Given the description of an element on the screen output the (x, y) to click on. 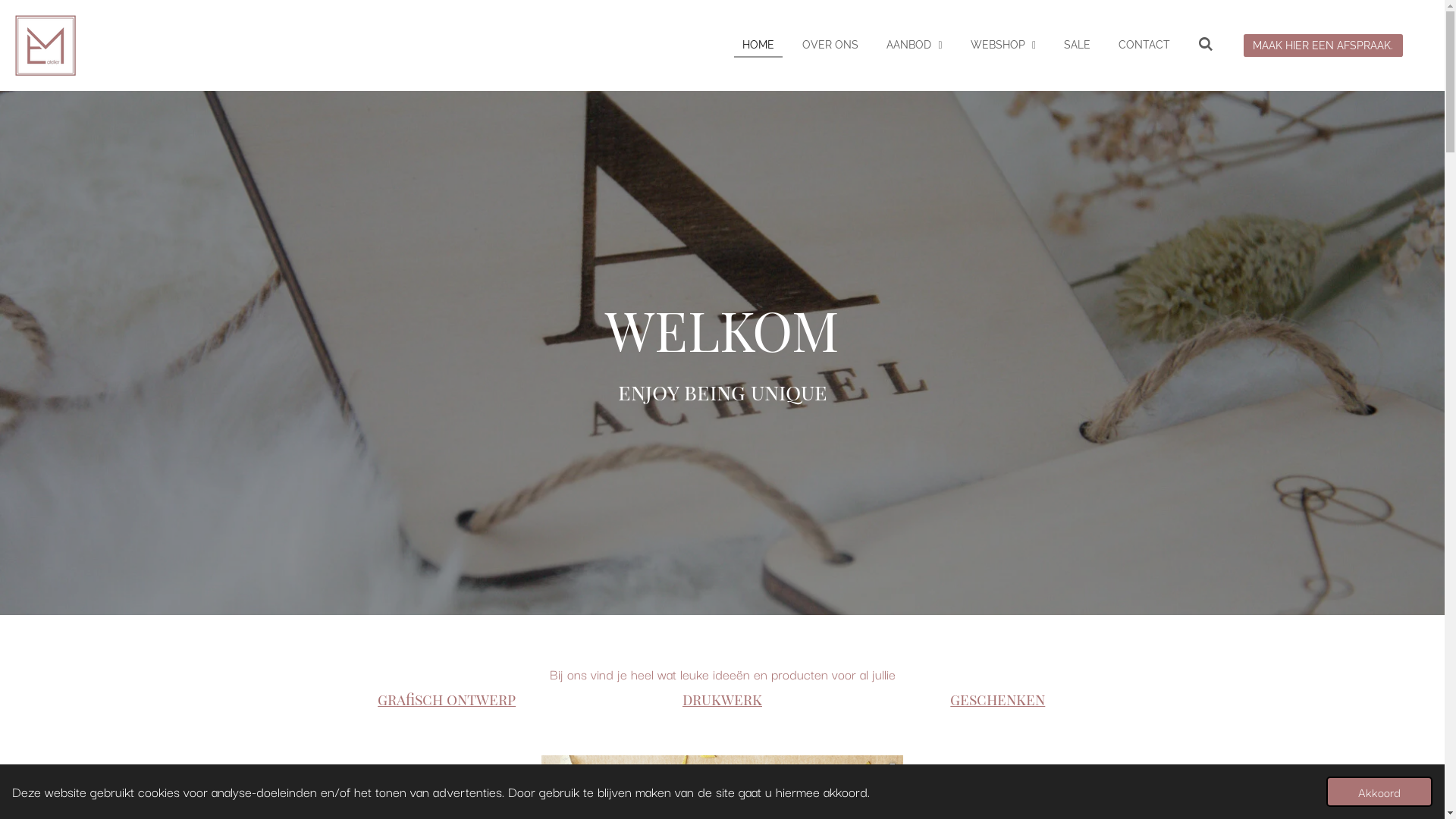
OVER ONS Element type: text (829, 45)
geschenken Element type: text (997, 699)
WEBSHOP Element type: text (1002, 45)
MAAK HIER EEN AFSPRAAK. Element type: text (1322, 45)
grafisch ontwerp Element type: text (446, 699)
HOME Element type: text (758, 45)
Zoeken Element type: hover (1205, 45)
drukwerk Element type: text (722, 699)
CONTACT Element type: text (1144, 45)
Akkoord Element type: text (1379, 791)
atelier EM Element type: hover (45, 45)
SALE Element type: text (1076, 45)
AANBOD Element type: text (914, 45)
